Given the description of an element on the screen output the (x, y) to click on. 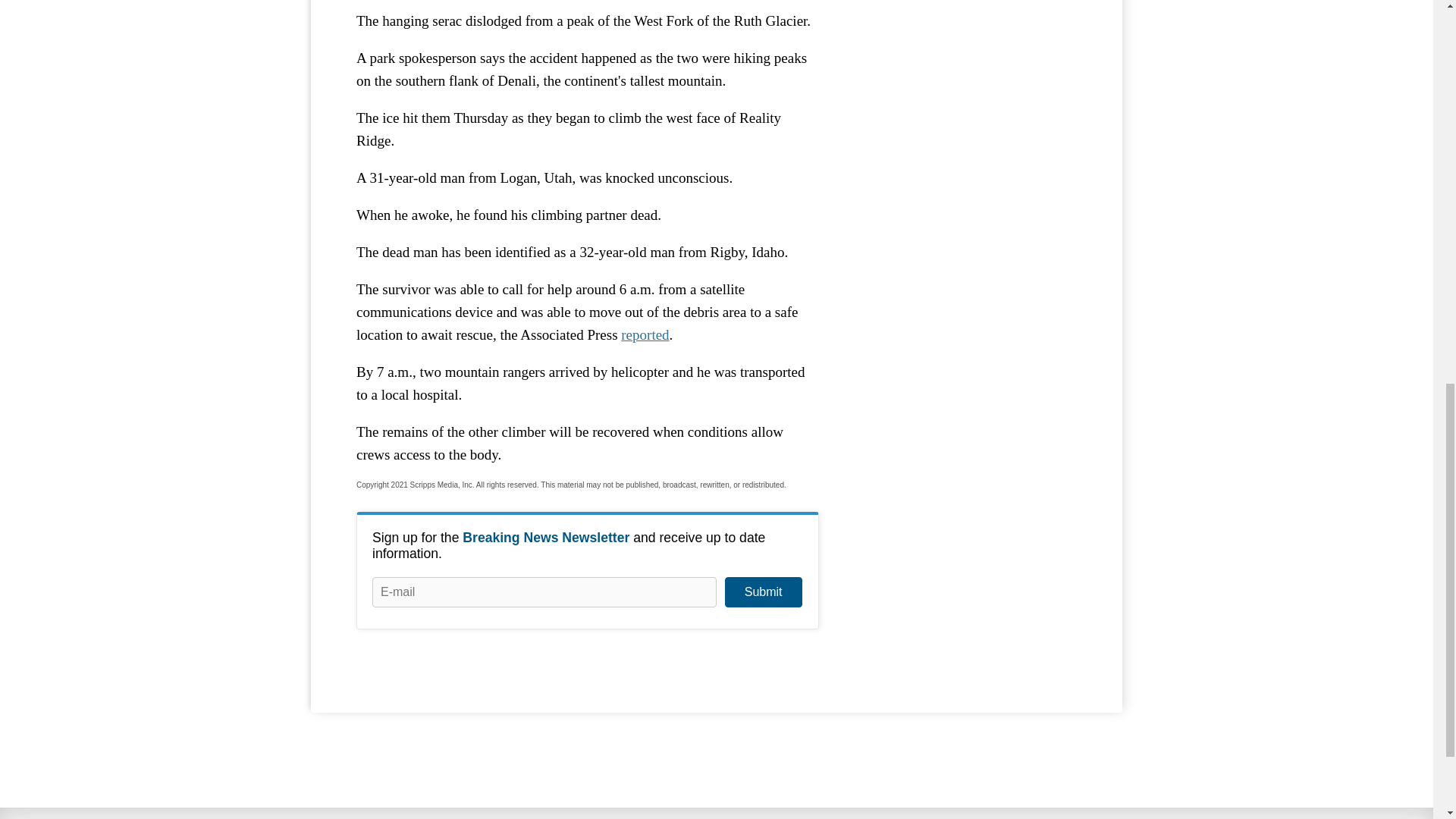
Submit (763, 592)
